Given the description of an element on the screen output the (x, y) to click on. 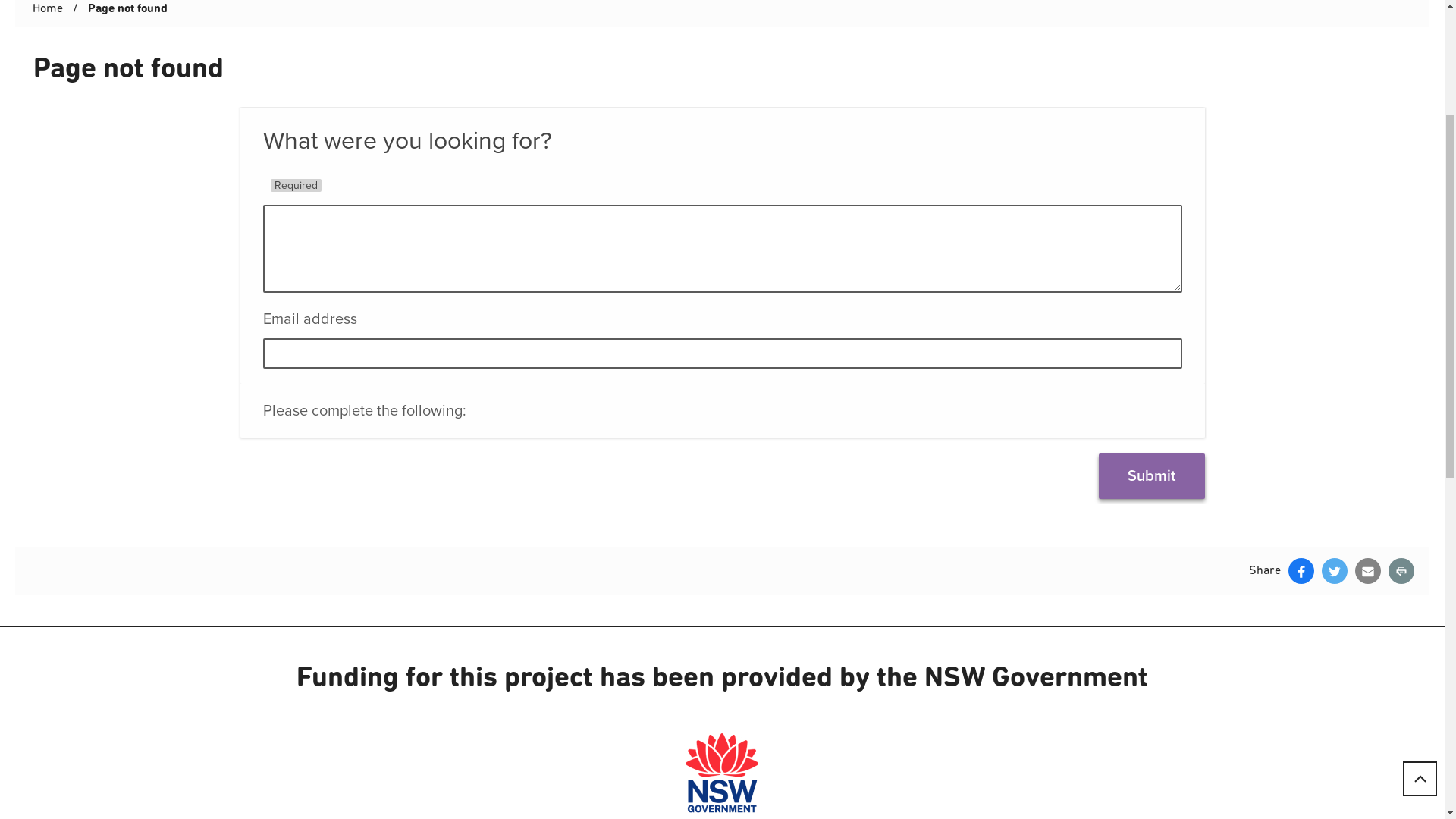
Twitter Element type: text (1334, 804)
Your current preferred language is
English (Australia) Element type: text (1083, 14)
Page not found - Emerge Festival Element type: hover (722, 538)
Print Element type: text (1401, 804)
Home - Willoughby City Council - Logo Element type: text (175, 77)
Search Element type: text (1400, 142)
Home Element type: text (47, 242)
OPEN SIDE
MENU Element type: text (30, 71)
Facebook Element type: text (1301, 804)
Email Element type: text (1367, 804)
